Given the description of an element on the screen output the (x, y) to click on. 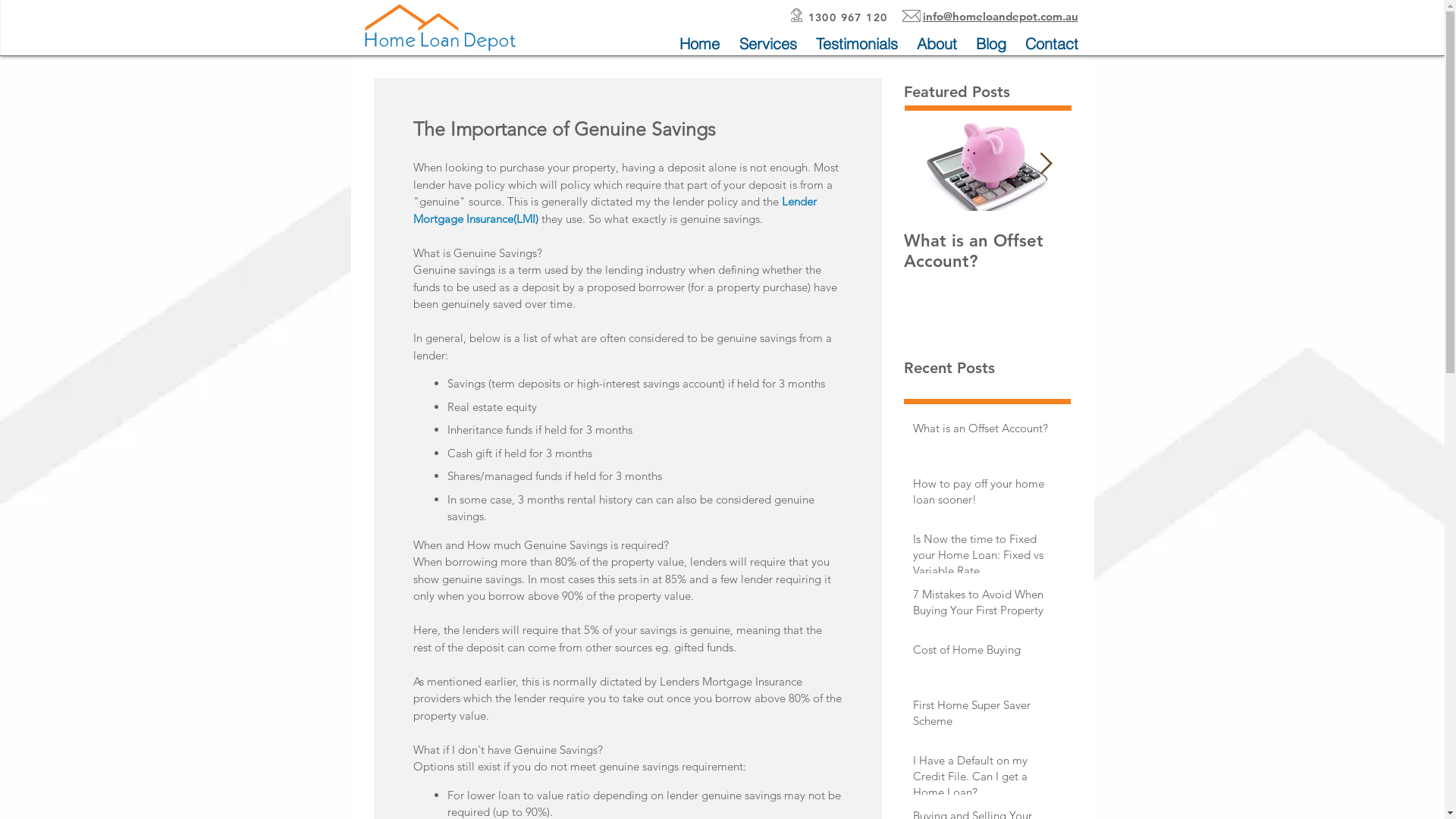
About Element type: text (936, 43)
Lender Mortgage Insurance(LMI) Element type: text (615, 209)
Cost of Home Buying Element type: text (982, 652)
Contact Element type: text (1052, 43)
First Home Super Saver Scheme Element type: text (982, 715)
Blog Element type: text (990, 43)
info@homeloandepot.com.au Element type: text (999, 16)
7 Mistakes to Avoid When Buying Your First Property Element type: text (982, 605)
What is an Offset Account? Element type: text (982, 431)
Home Element type: text (698, 43)
How to pay off your home loan sooner! Element type: text (1153, 250)
What is an Offset Account? Element type: text (986, 250)
Services Element type: text (767, 43)
I Have a Default on my Credit File. Can I get a Home Loan? Element type: text (982, 779)
How to pay off your home loan sooner! Element type: text (982, 494)
1300 967 120 Element type: text (848, 17)
Testimonials Element type: text (856, 43)
